Given the description of an element on the screen output the (x, y) to click on. 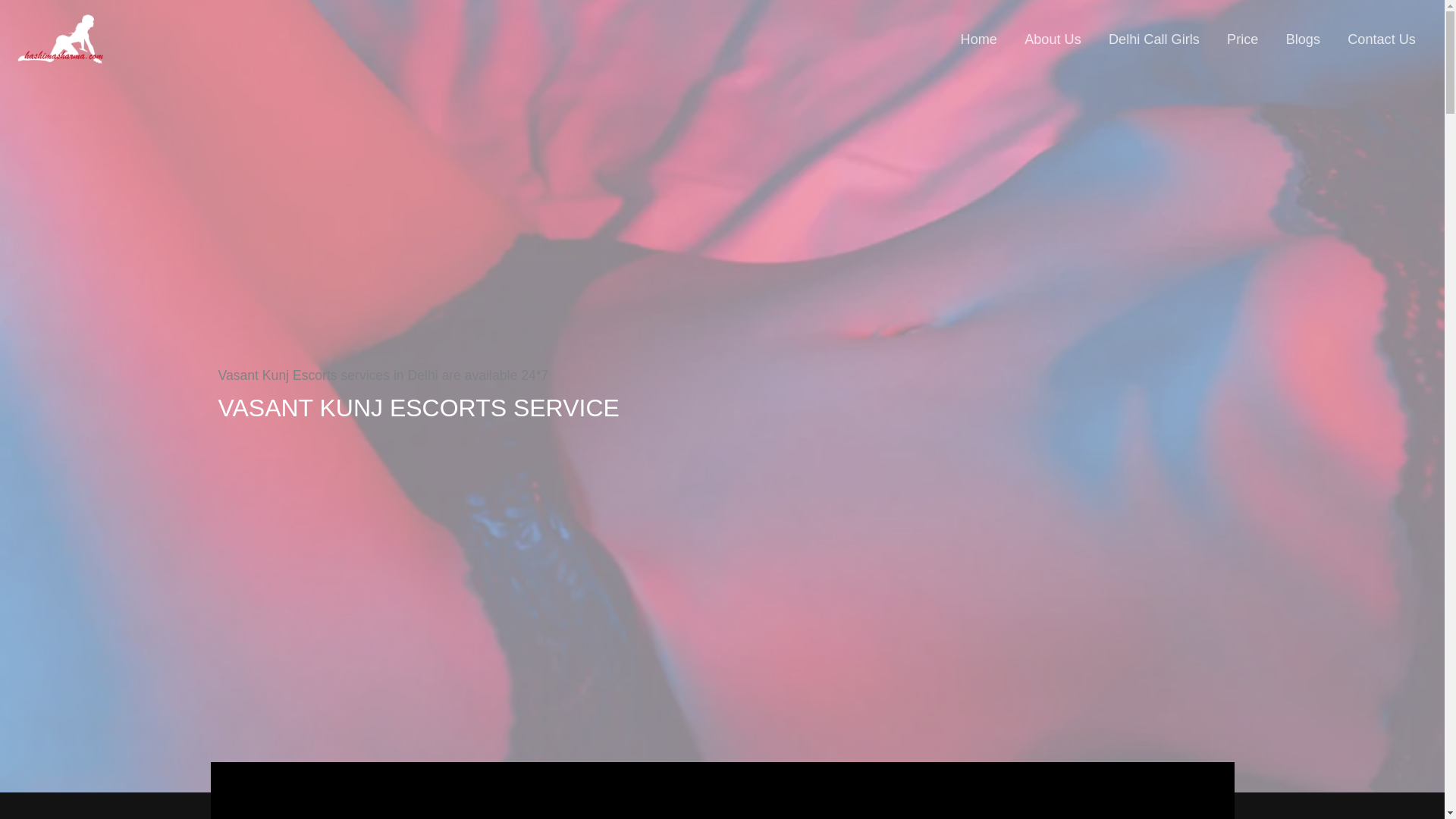
Contact Us (1381, 39)
Blogs (1303, 39)
Home (978, 39)
Price (1242, 39)
Delhi Call Girls (1153, 39)
About Us (1052, 39)
